Given the description of an element on the screen output the (x, y) to click on. 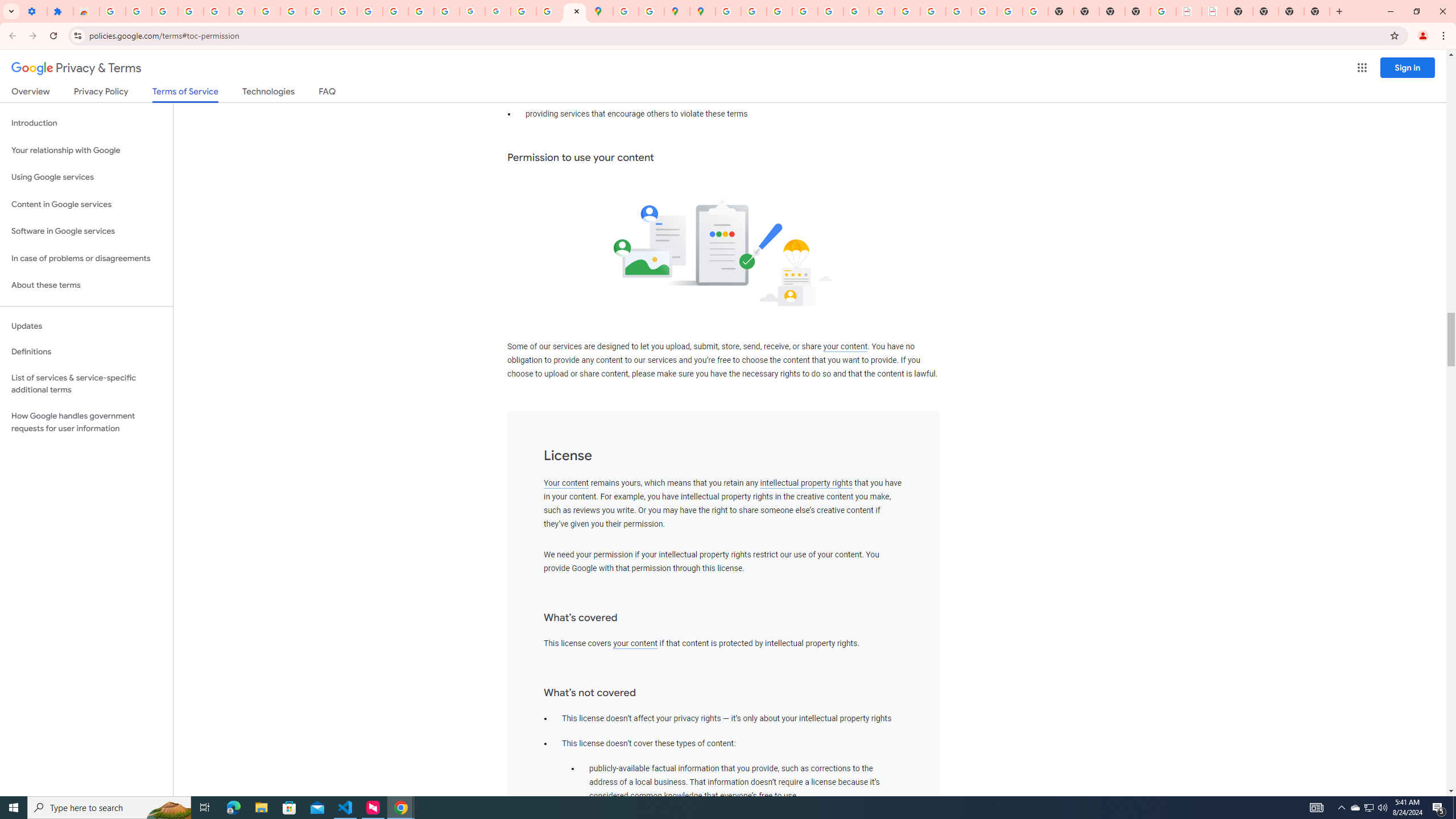
Learn how to find your photos - Google Photos Help (190, 11)
Google Maps (600, 11)
Extensions (60, 11)
Your relationship with Google (86, 150)
Sign in - Google Accounts (242, 11)
